Given the description of an element on the screen output the (x, y) to click on. 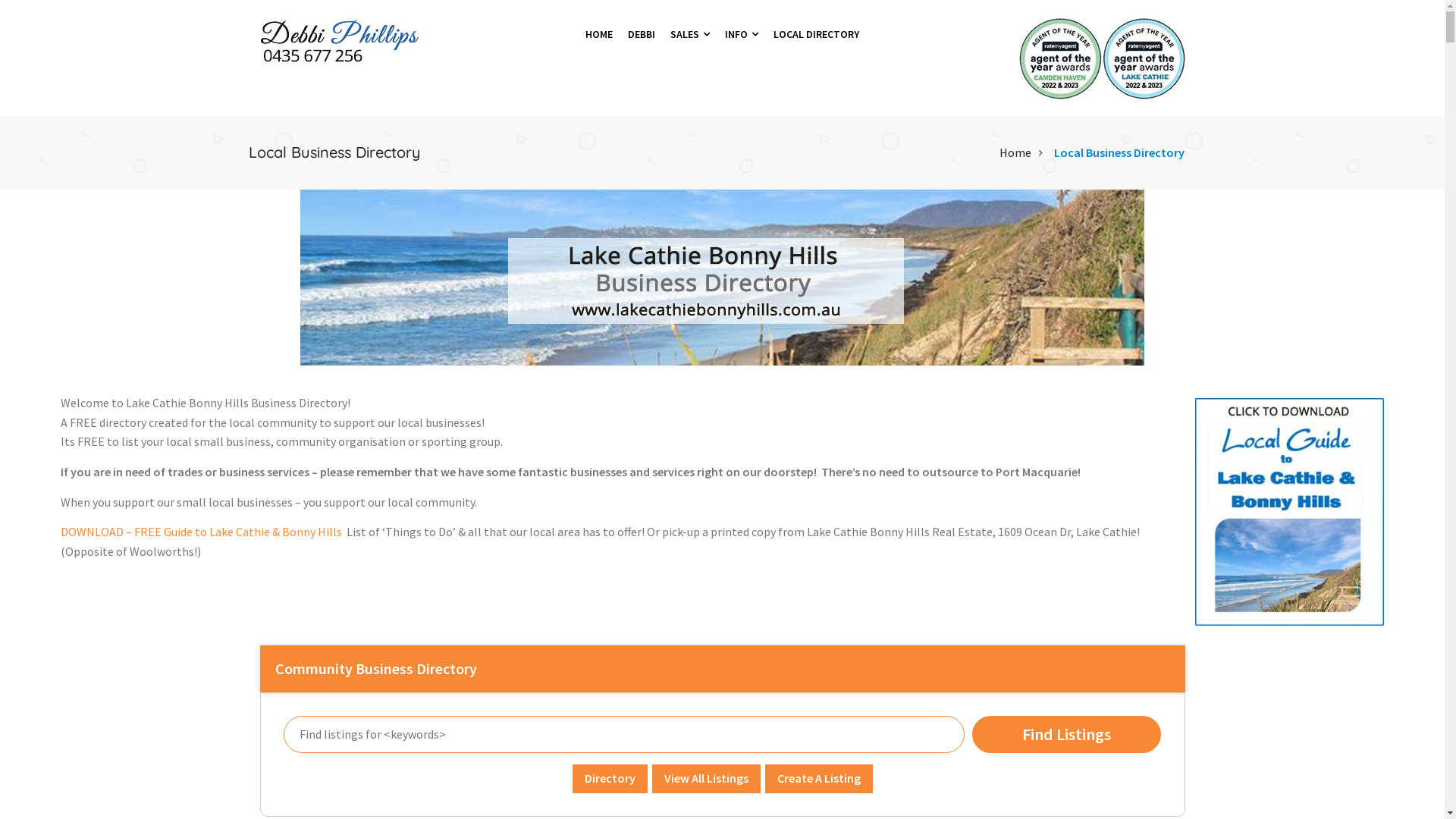
HOME Element type: text (598, 34)
INFO Element type: text (741, 34)
Local Business Directory Element type: text (1119, 152)
DEBBI Element type: text (641, 34)
Find Listings Element type: text (1066, 734)
View All Listings Element type: text (706, 778)
SALES Element type: text (689, 34)
Home Element type: text (1015, 152)
LOCAL DIRECTORY Element type: text (815, 34)
Directory Element type: text (608, 778)
Create A Listing Element type: text (818, 778)
